Given the description of an element on the screen output the (x, y) to click on. 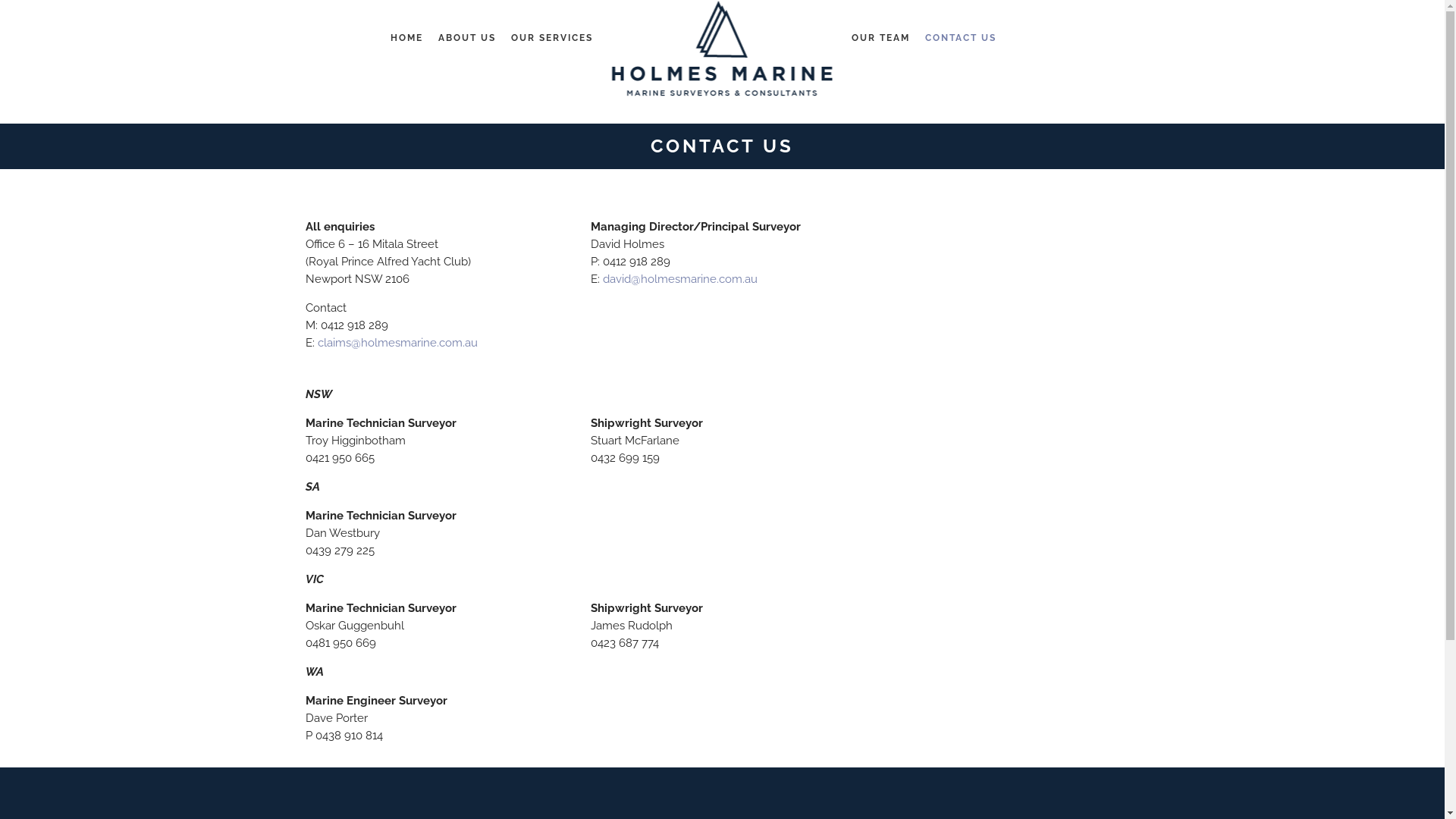
OUR SERVICES Element type: text (551, 37)
ABOUT US Element type: text (466, 37)
CONTACT US Element type: text (960, 37)
OUR TEAM Element type: text (880, 37)
HOME Element type: text (406, 37)
david@holmesmarine.com.au Element type: text (679, 278)
claims@holmesmarine.com.au Element type: text (396, 342)
